Given the description of an element on the screen output the (x, y) to click on. 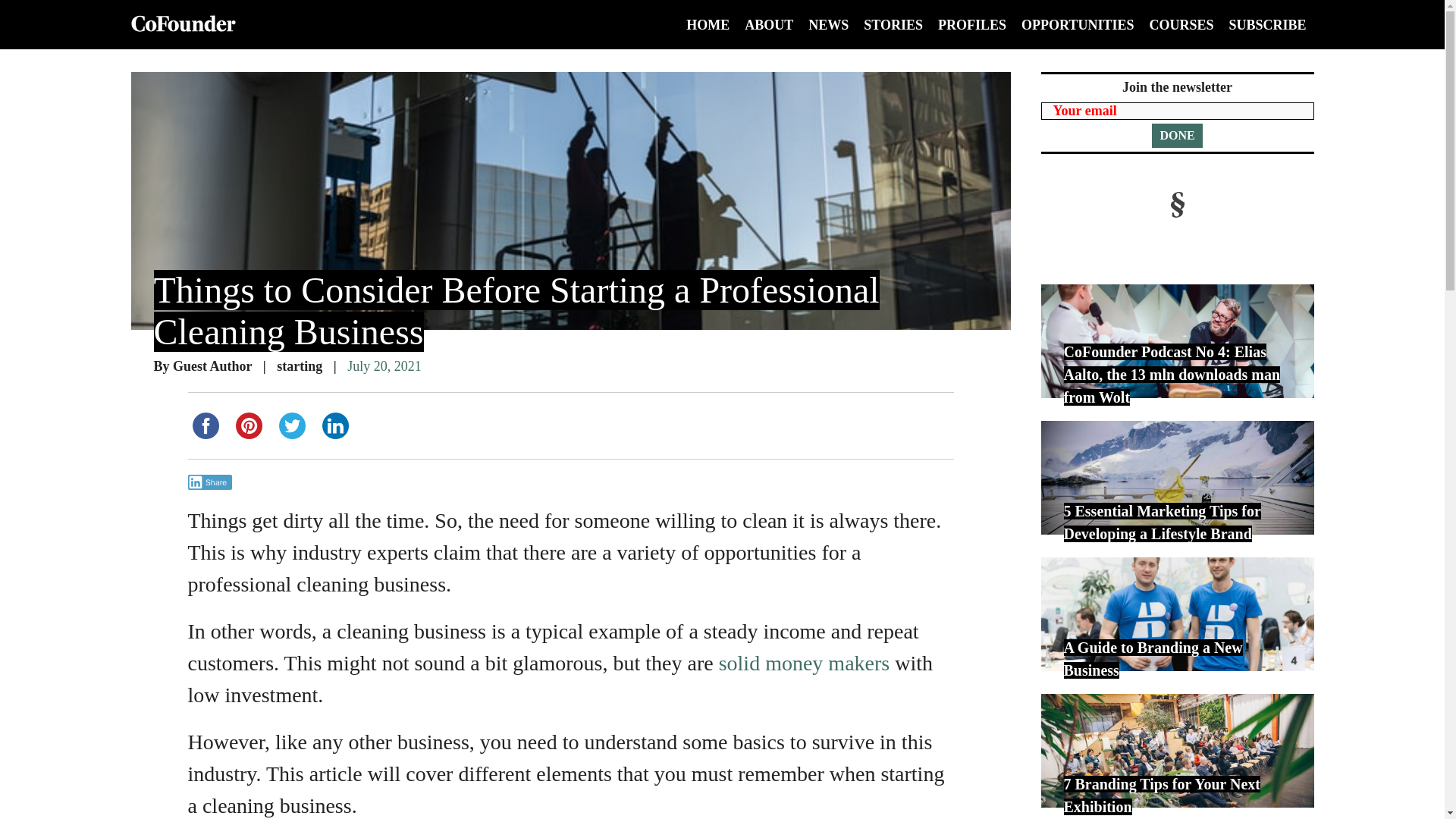
Share (209, 482)
facebook (205, 425)
PROFILES (971, 24)
twitter (292, 425)
OPPORTUNITIES (1078, 24)
Done (1176, 135)
5 Essential Marketing Tips for Developing a Lifestyle Brand (1177, 477)
7 Branding Tips for Your Next Exhibition (1177, 750)
pinterest (248, 425)
COURSES (1180, 24)
linkedin (334, 425)
STORIES (893, 24)
HOME (707, 24)
